Given the description of an element on the screen output the (x, y) to click on. 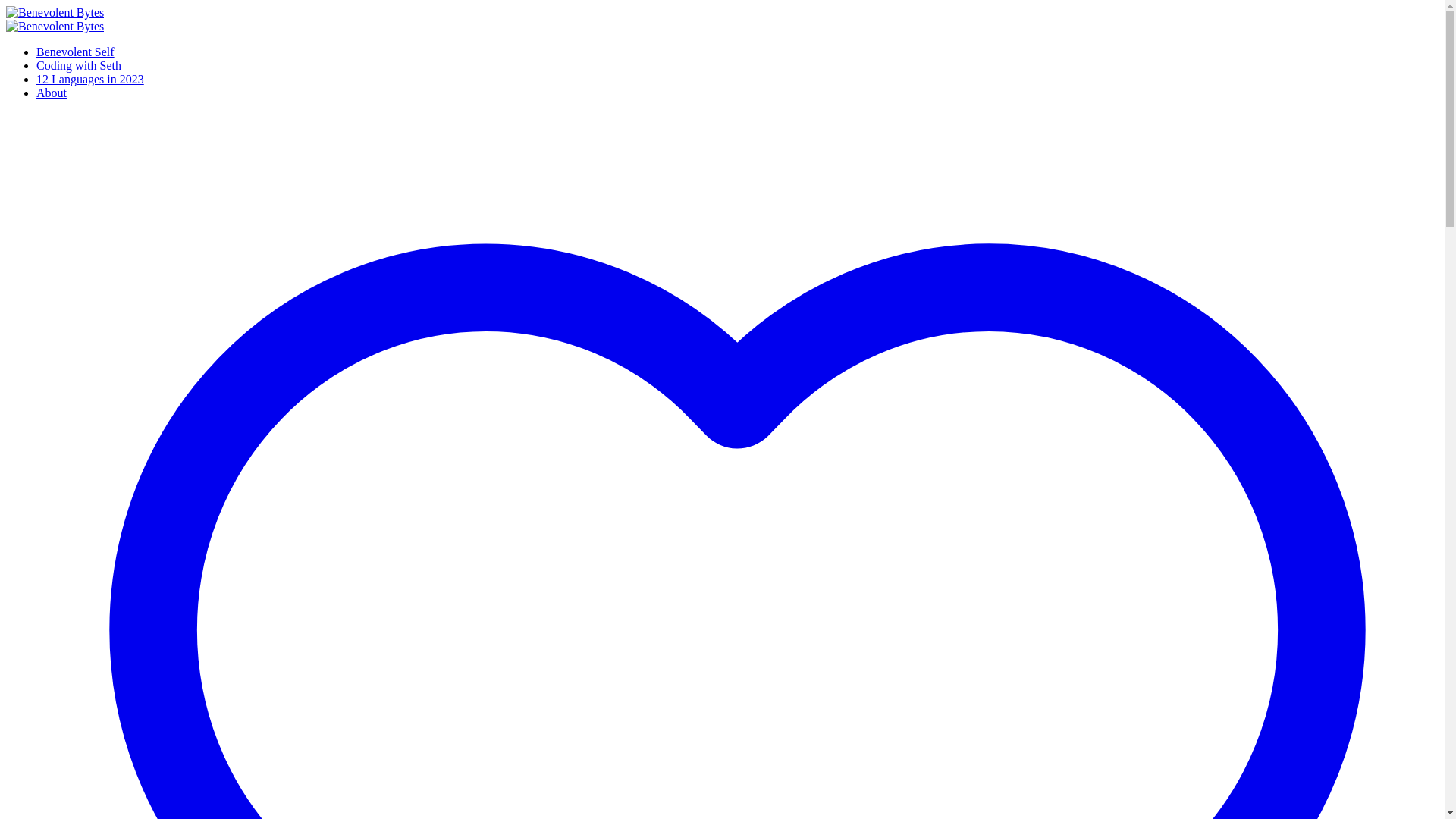
Coding with Seth (78, 65)
About (51, 92)
Benevolent Self (75, 51)
12 Languages in 2023 (90, 78)
